Given the description of an element on the screen output the (x, y) to click on. 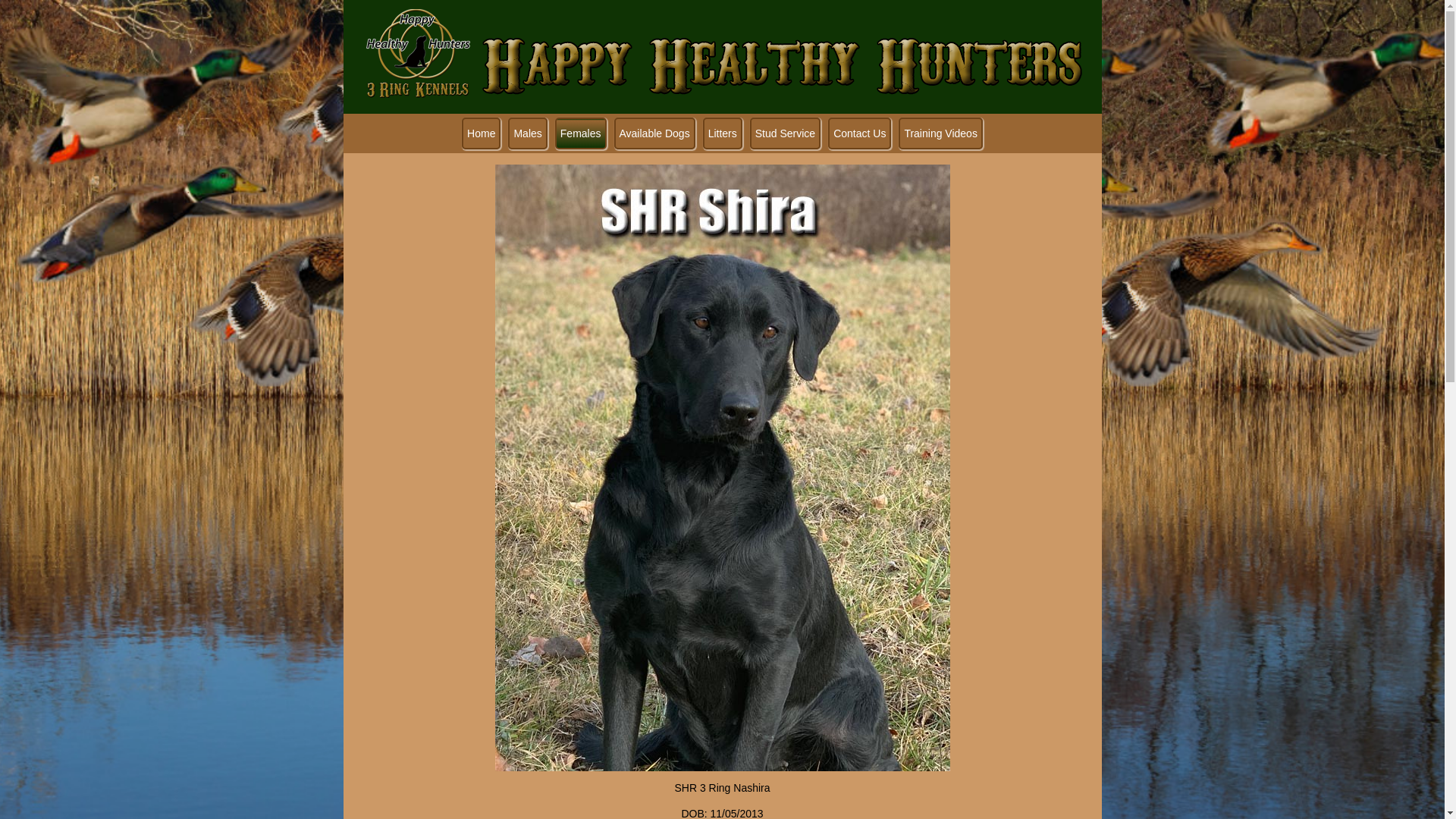
Males Element type: text (527, 133)
Contact Us Element type: text (859, 133)
Home Element type: text (480, 133)
Stud Service Element type: text (784, 133)
Females Element type: text (580, 133)
Training Videos Element type: text (940, 133)
Available Dogs Element type: text (654, 133)
Litters Element type: text (722, 133)
